Given the description of an element on the screen output the (x, y) to click on. 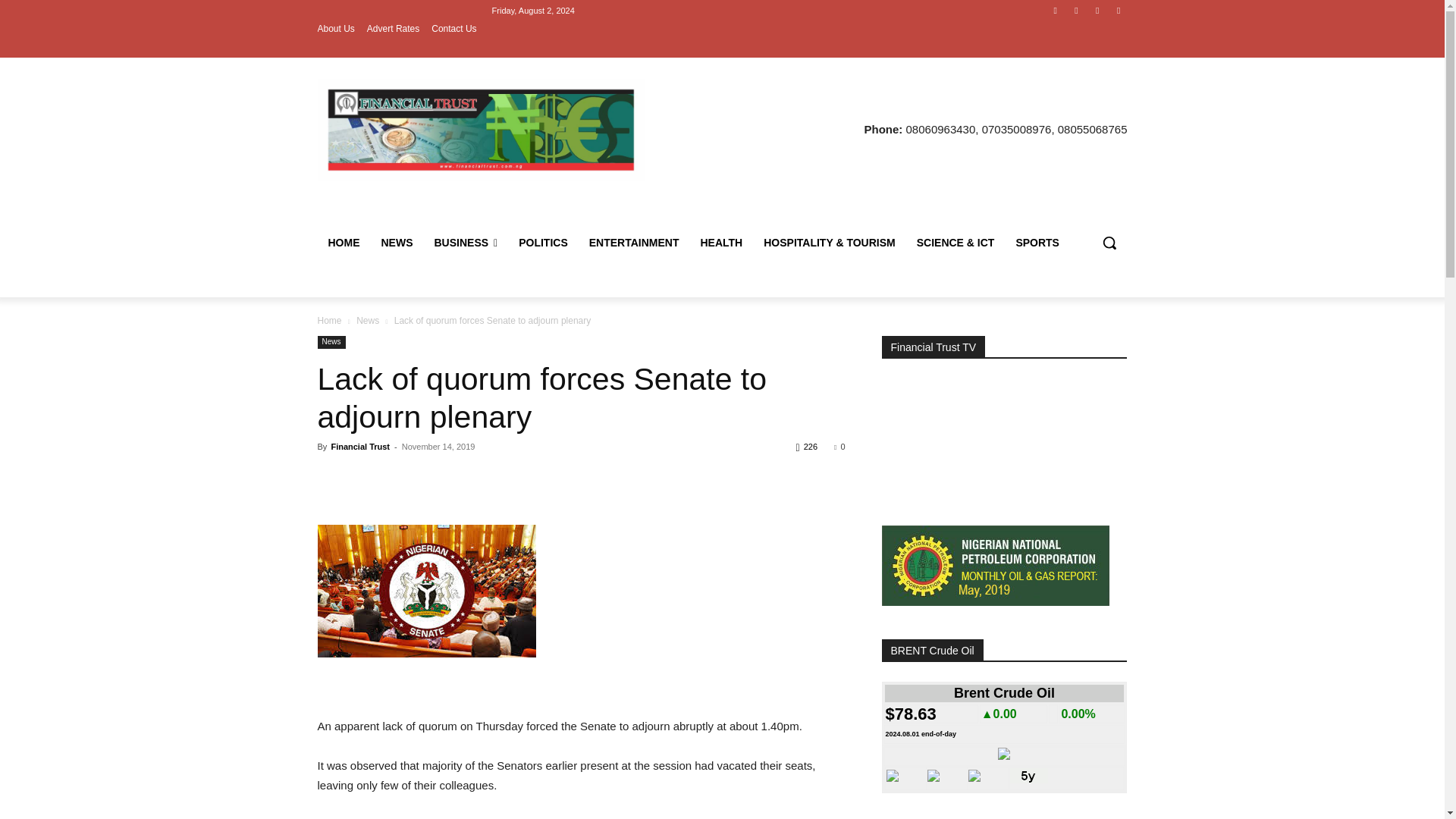
About Us (335, 28)
POLITICS (543, 242)
Instagram (1075, 9)
Contact Us (453, 28)
Youtube (1117, 9)
NEWS (396, 242)
SENATE (426, 590)
HEALTH (722, 242)
Facebook (1055, 9)
View all posts in News (367, 320)
Advert Rates (392, 28)
BUSINESS (465, 242)
SPORTS (1037, 242)
HOME (343, 242)
ENTERTAINMENT (634, 242)
